Given the description of an element on the screen output the (x, y) to click on. 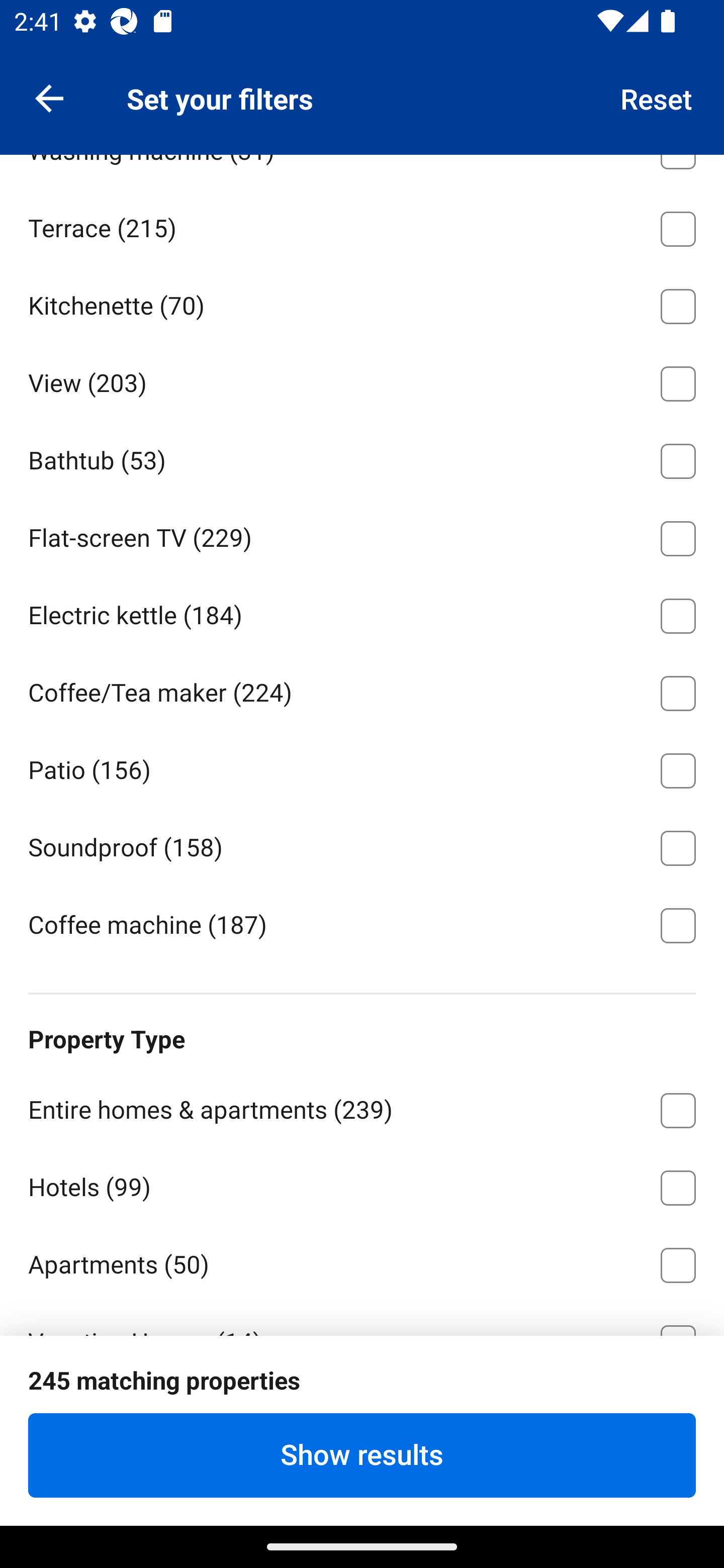
Navigate up (49, 97)
Reset (656, 97)
Terrace ⁦(215) (361, 225)
Kitchenette ⁦(70) (361, 302)
View ⁦(203) (361, 379)
Bathtub ⁦(53) (361, 457)
Flat-screen TV ⁦(229) (361, 535)
Electric kettle ⁦(184) (361, 611)
Coffee/Tea maker ⁦(224) (361, 689)
Patio ⁦(156) (361, 767)
Soundproof ⁦(158) (361, 843)
Coffee machine ⁦(187) (361, 923)
Entire homes & apartments ⁦(239) (361, 1106)
Hotels ⁦(99) (361, 1184)
Apartments ⁦(50) (361, 1261)
Show results (361, 1454)
